Given the description of an element on the screen output the (x, y) to click on. 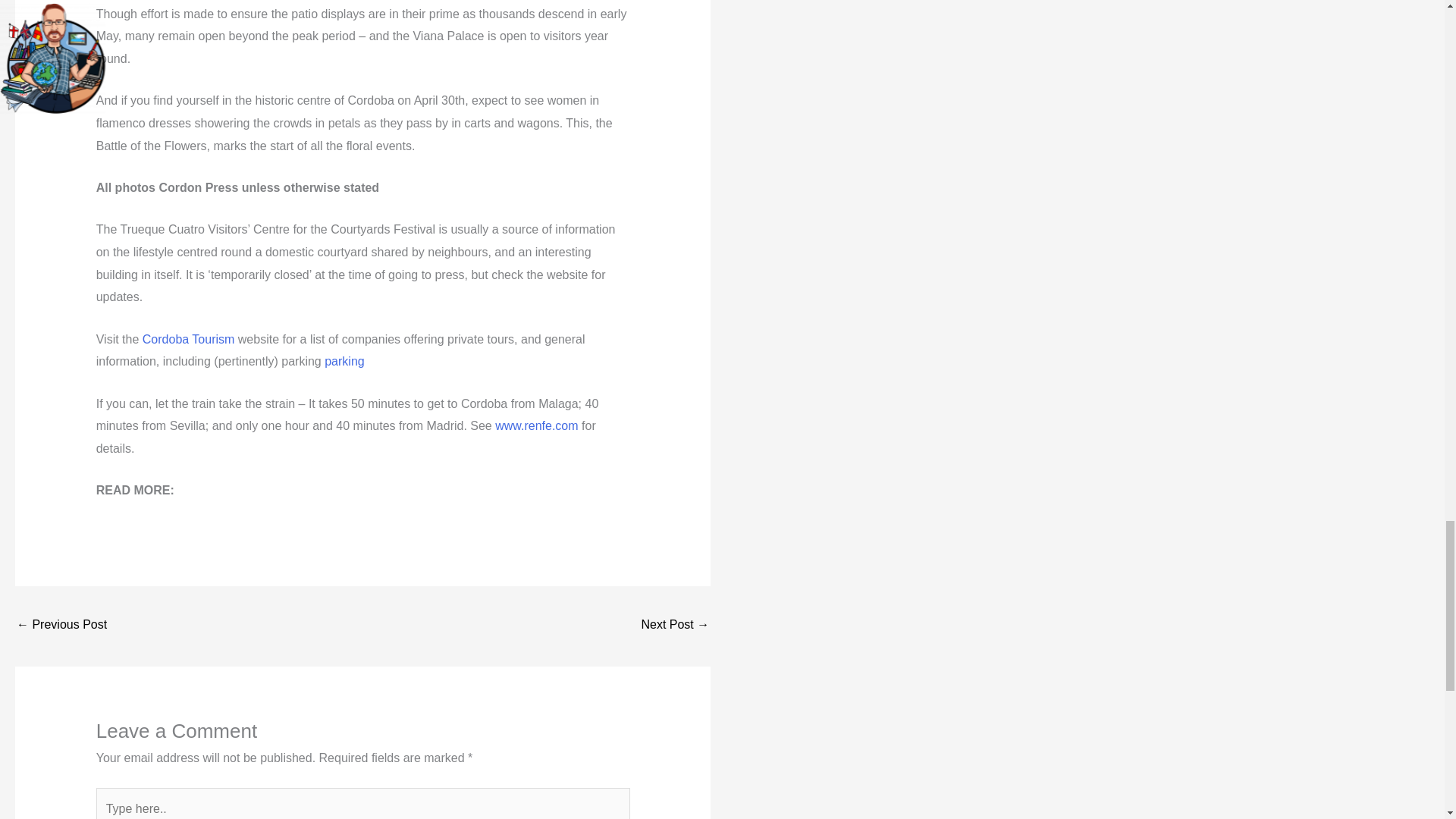
parking (344, 360)
Cordoba Tourism (188, 338)
www.renfe.com (536, 425)
